Given the description of an element on the screen output the (x, y) to click on. 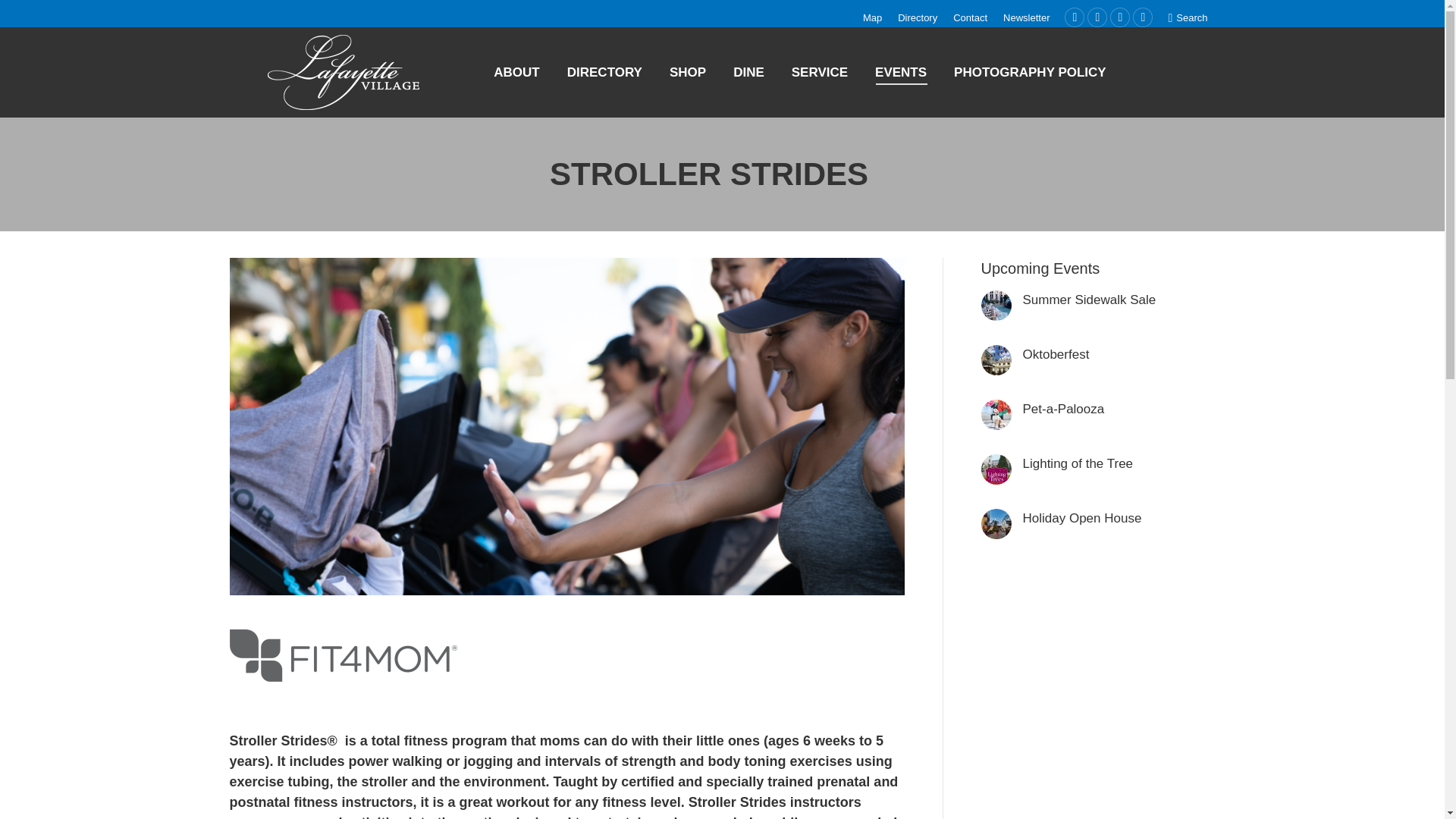
TripAdvisor page opens in new window (1142, 17)
X page opens in new window (1074, 17)
Search (1187, 17)
Map (872, 17)
Facebook page opens in new window (1096, 17)
Instagram page opens in new window (1119, 17)
Directory (917, 17)
Facebook page opens in new window (1096, 17)
DIRECTORY (604, 72)
TripAdvisor page opens in new window (1142, 17)
X page opens in new window (1074, 17)
Go! (24, 16)
Contact (970, 17)
Newsletter (1026, 17)
Instagram page opens in new window (1119, 17)
